Given the description of an element on the screen output the (x, y) to click on. 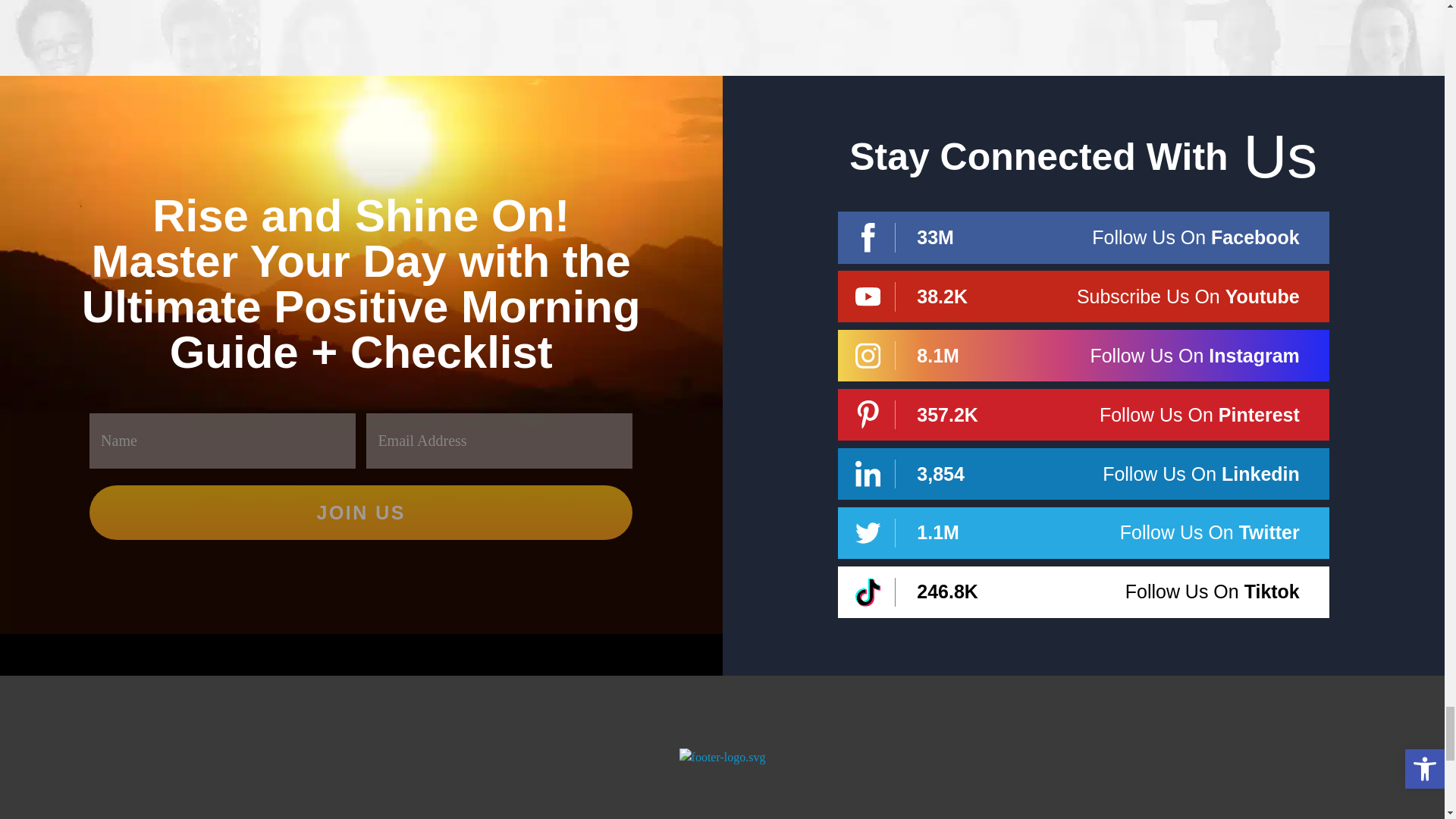
JOIN US (359, 512)
